Given the description of an element on the screen output the (x, y) to click on. 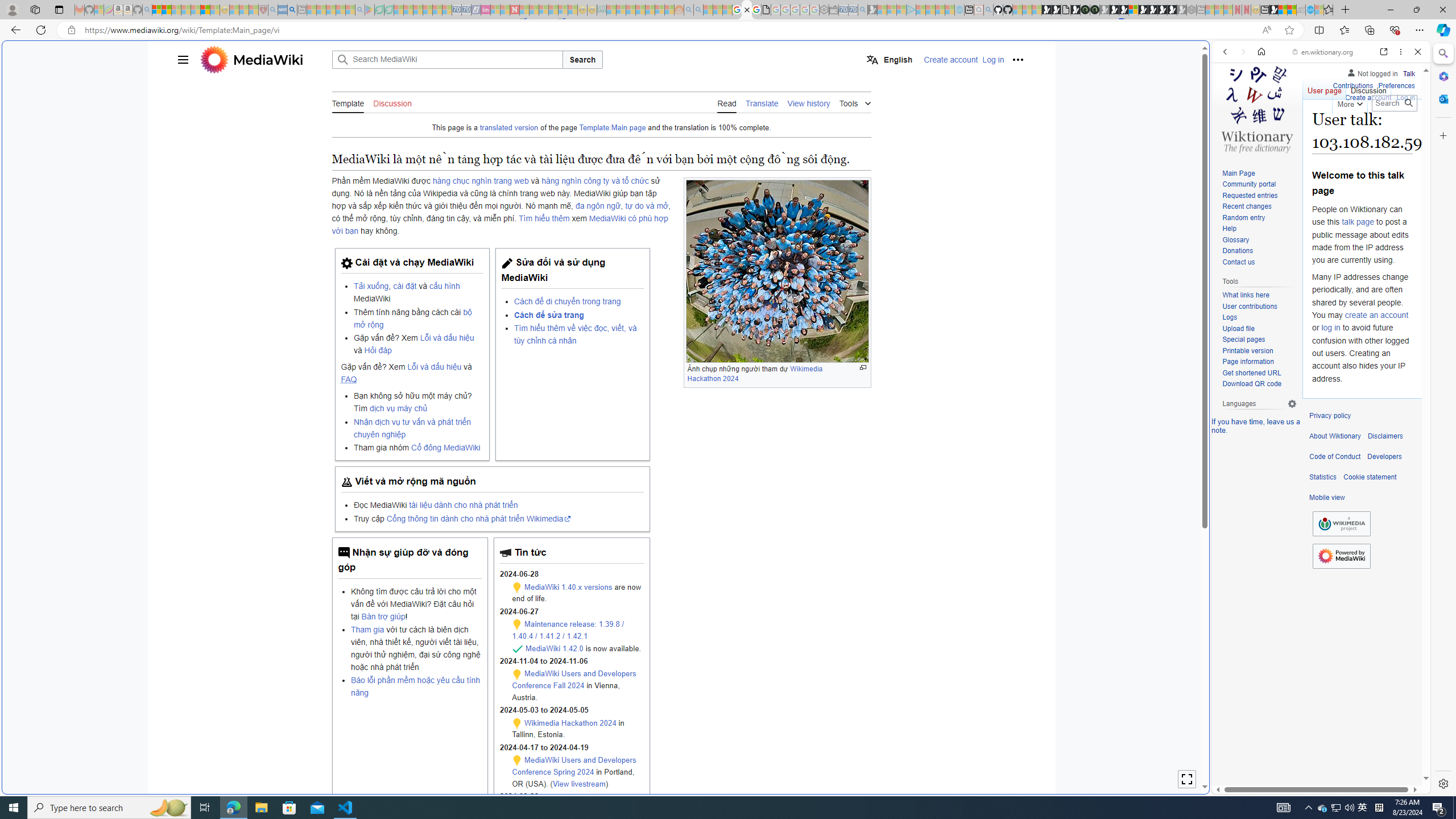
Not logged in (1371, 71)
Special pages (1259, 339)
Disclaimers (1385, 436)
